Given the description of an element on the screen output the (x, y) to click on. 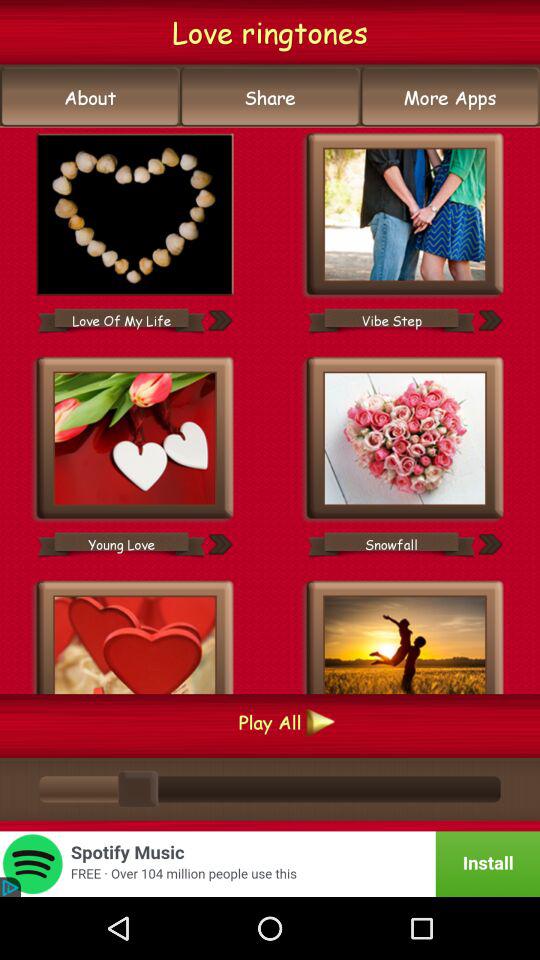
tap young love item (121, 544)
